Given the description of an element on the screen output the (x, y) to click on. 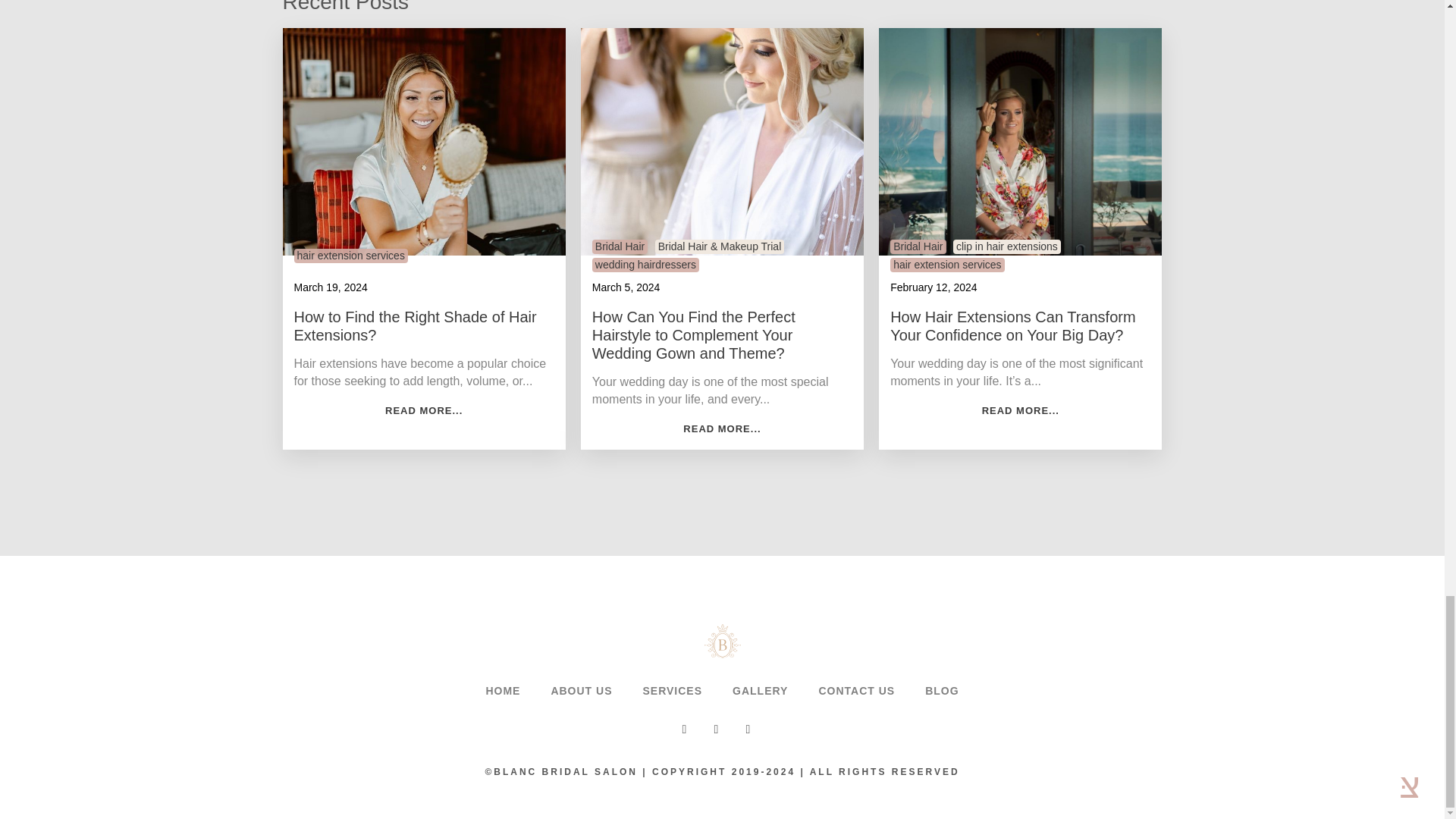
How to Find the Right Shade of Hair Extensions? (424, 325)
hair extension services (350, 255)
March 19, 2024 (331, 287)
READ MORE... (424, 411)
